Given the description of an element on the screen output the (x, y) to click on. 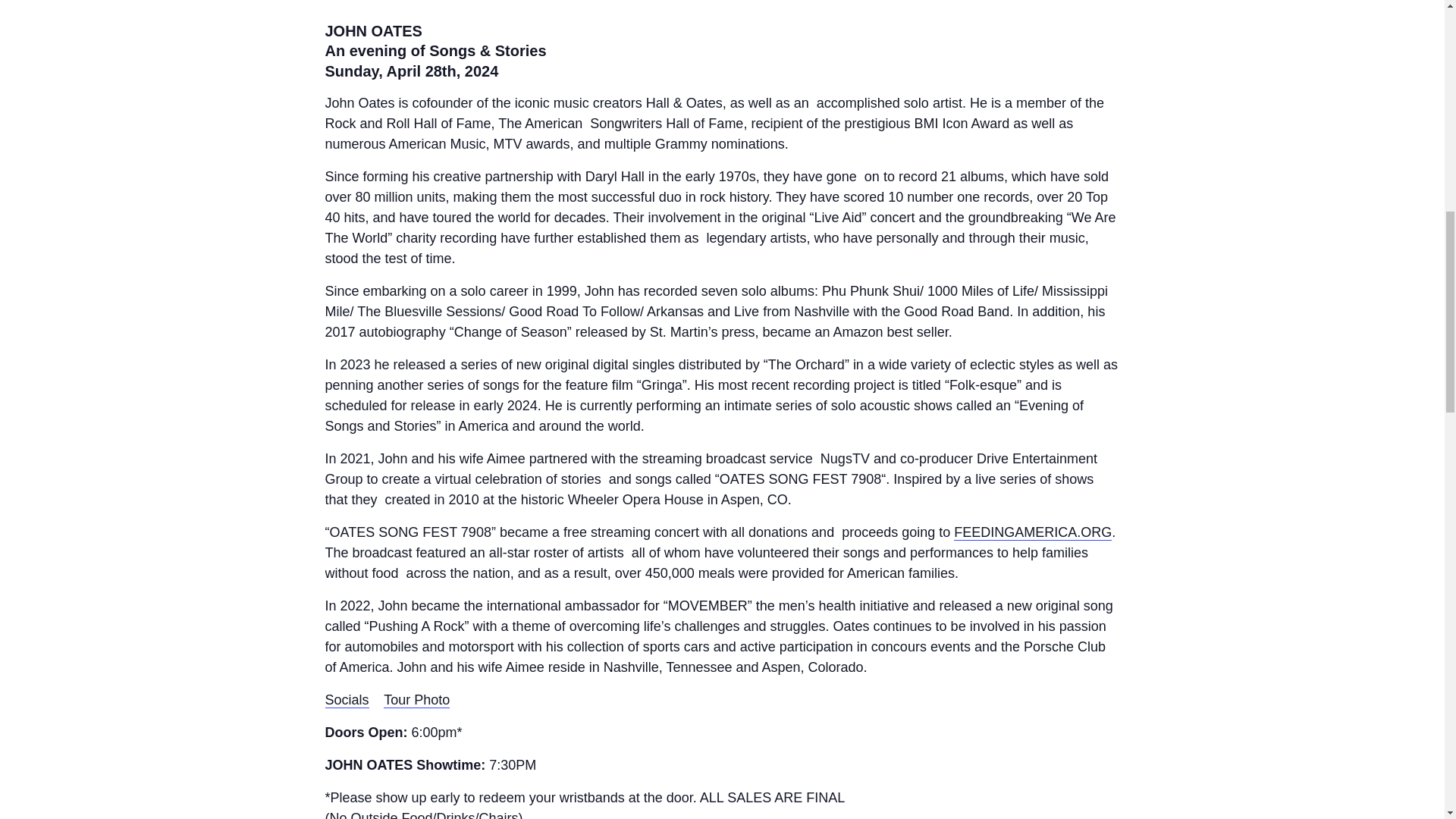
FEEDINGAMERICA.ORG (1032, 532)
Socials (346, 700)
Tour Photo (416, 700)
